Given the description of an element on the screen output the (x, y) to click on. 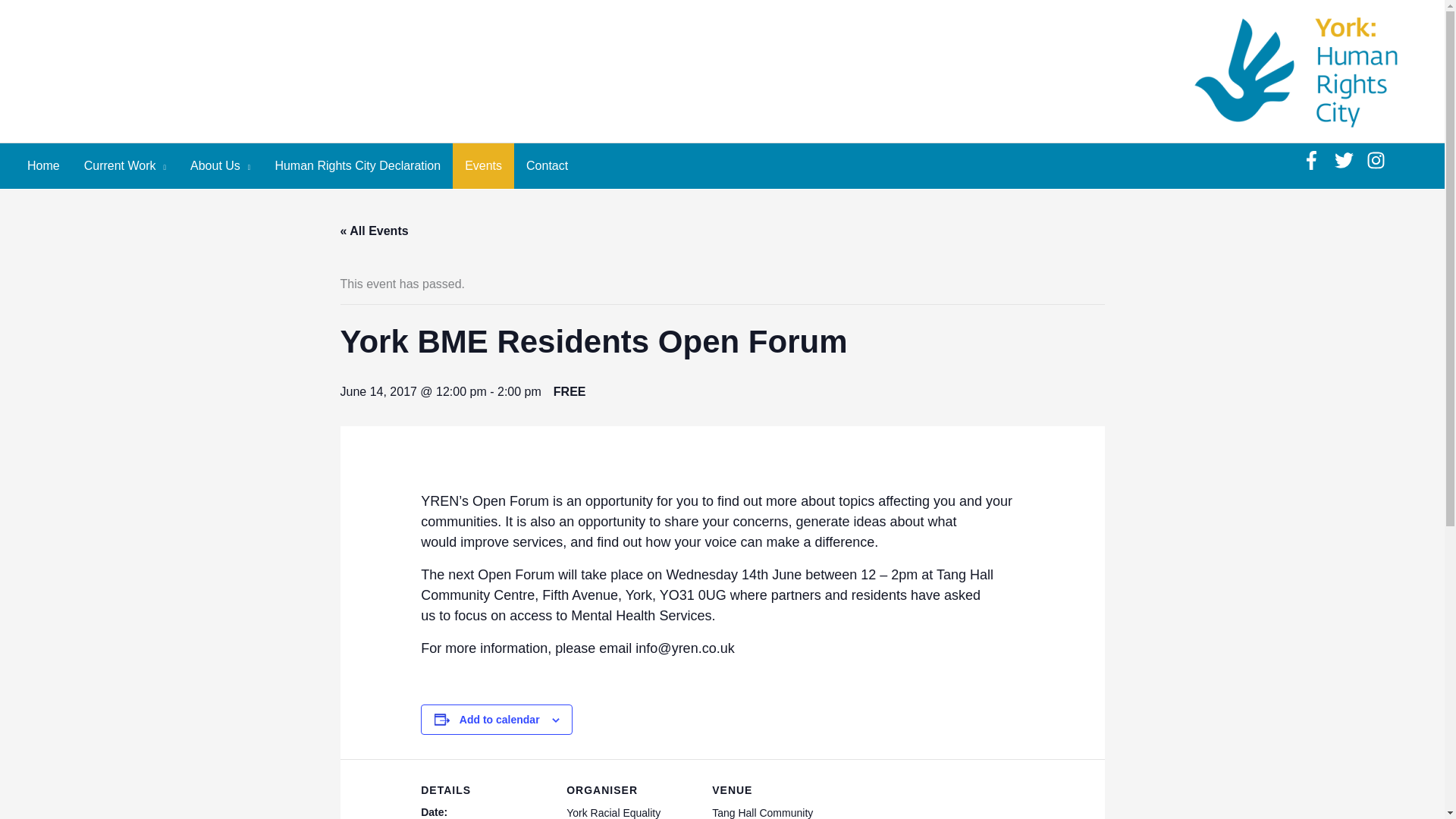
Human Rights City Declaration (357, 166)
Home (42, 166)
Events (482, 166)
About Us (219, 166)
Current Work (124, 166)
Add to calendar (500, 719)
Contact (546, 166)
